Given the description of an element on the screen output the (x, y) to click on. 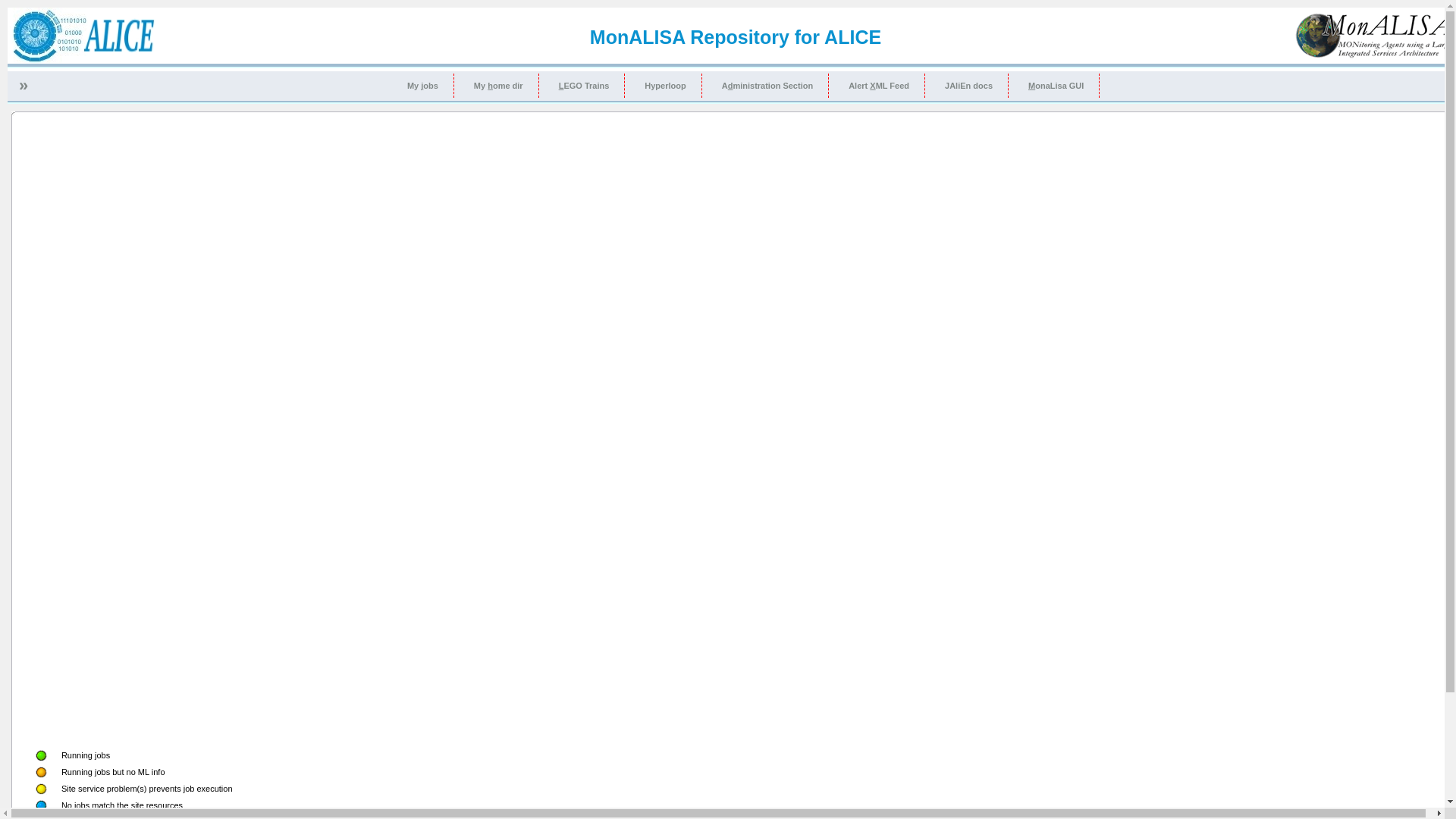
MonALISA Repository for ALICE Element type: text (735, 36)
MonaLisa GUI Element type: text (1056, 85)
ALICE Experiment public pages Element type: hover (83, 59)
MonALISA Grid Monitoring Element type: hover (1373, 53)
LEGO Trains Element type: text (584, 85)
JAliEn docs Element type: text (968, 85)
My jobs Element type: text (423, 85)
Alert XML Feed Element type: text (879, 85)
Administration Section Element type: text (767, 85)
My home dir Element type: text (498, 85)
Hyperloop Element type: text (665, 85)
